Given the description of an element on the screen output the (x, y) to click on. 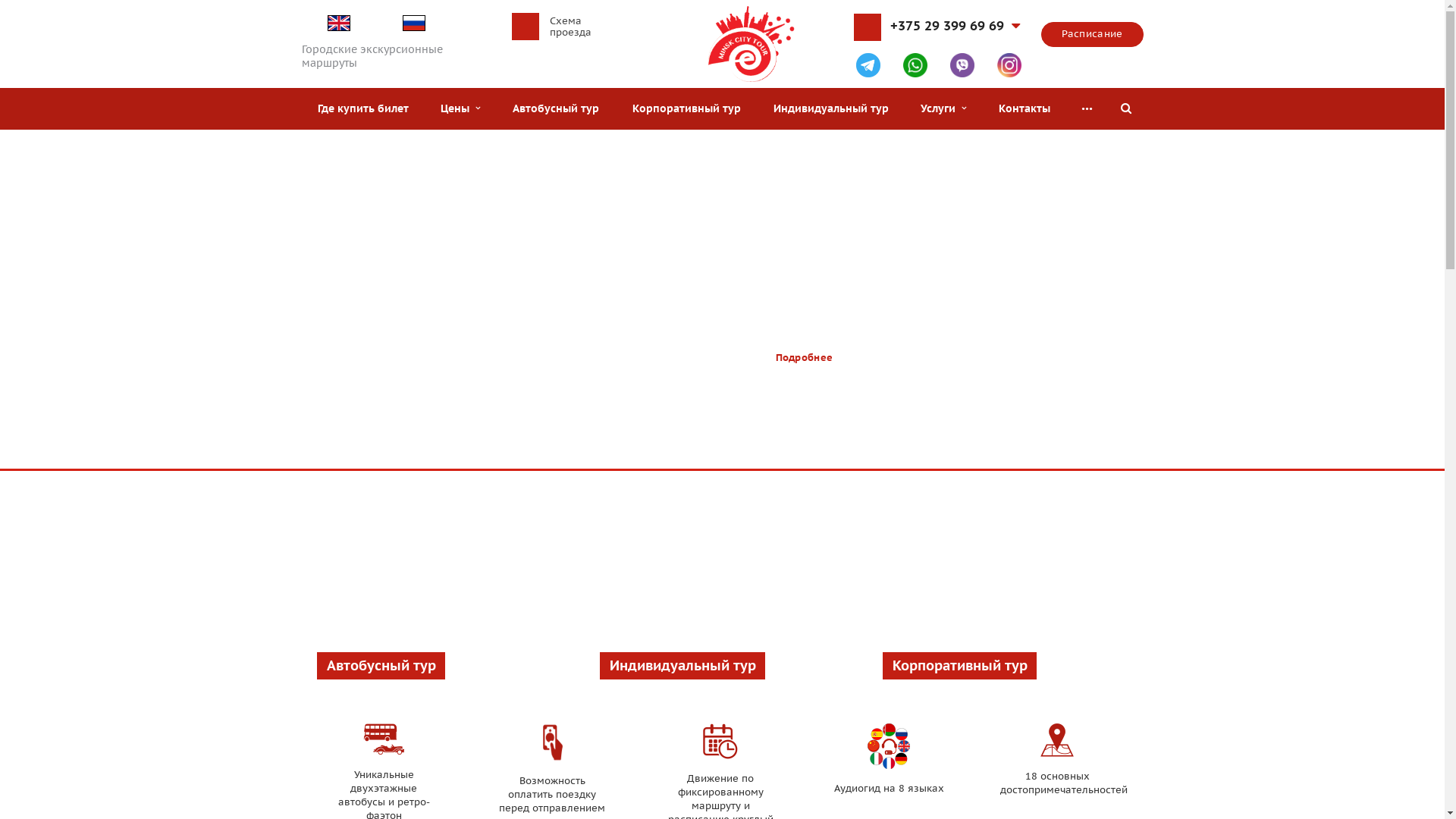
3 Element type: text (730, 451)
... Element type: text (1086, 108)
2 Element type: text (713, 451)
+375 29 399 69 69 Element type: text (954, 31)
4 Element type: text (745, 451)
1 Element type: text (698, 451)
